Given the description of an element on the screen output the (x, y) to click on. 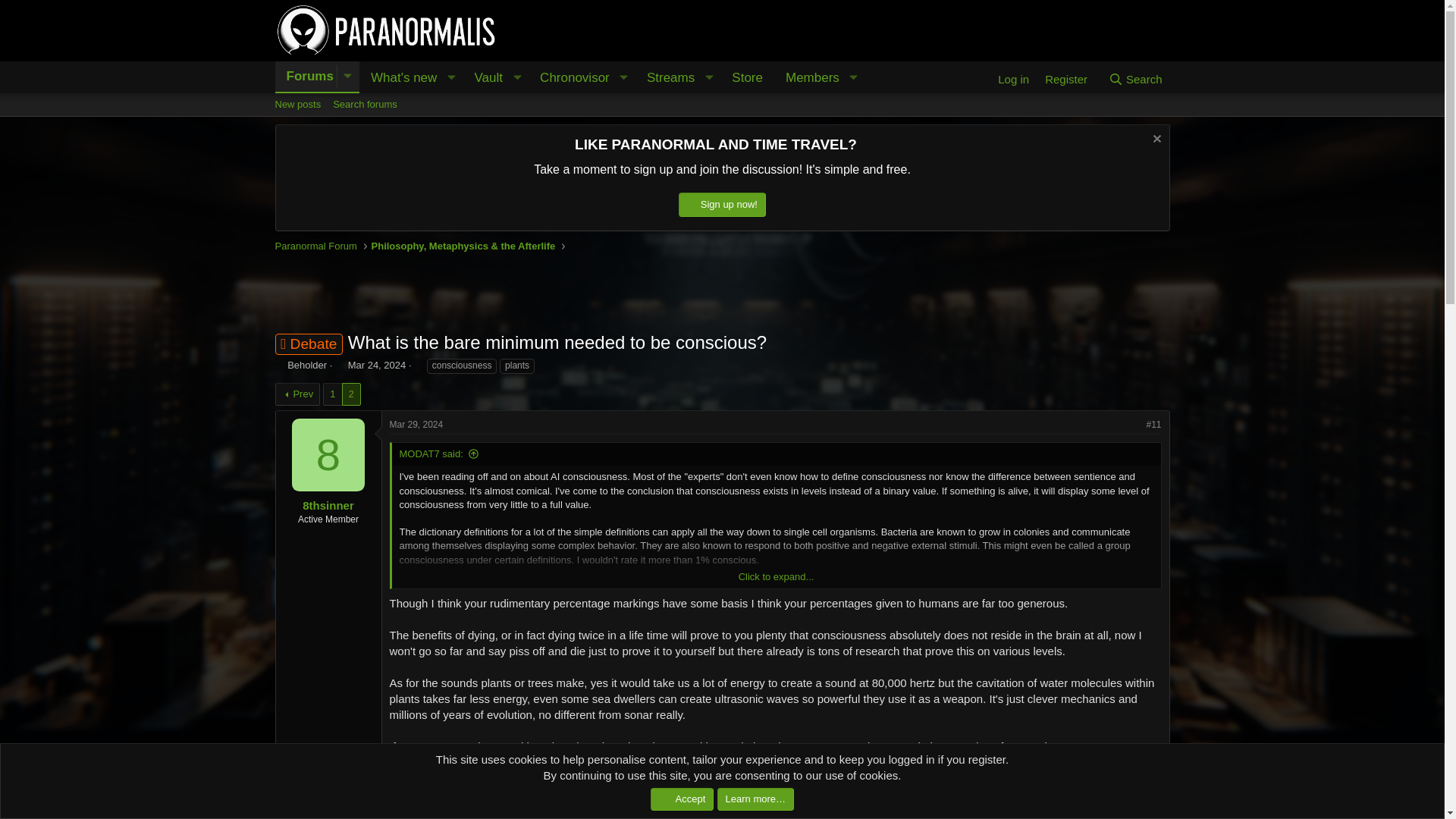
Start date (339, 365)
Log in (1013, 79)
Tags (418, 365)
Search (1135, 79)
Streams (665, 78)
Register (1065, 79)
Mar 24, 2024 at 2:43 PM (376, 365)
What's new (569, 94)
Advertisement (399, 78)
Forums (721, 291)
Vault (305, 76)
Store (484, 78)
Thread starter (747, 78)
